Given the description of an element on the screen output the (x, y) to click on. 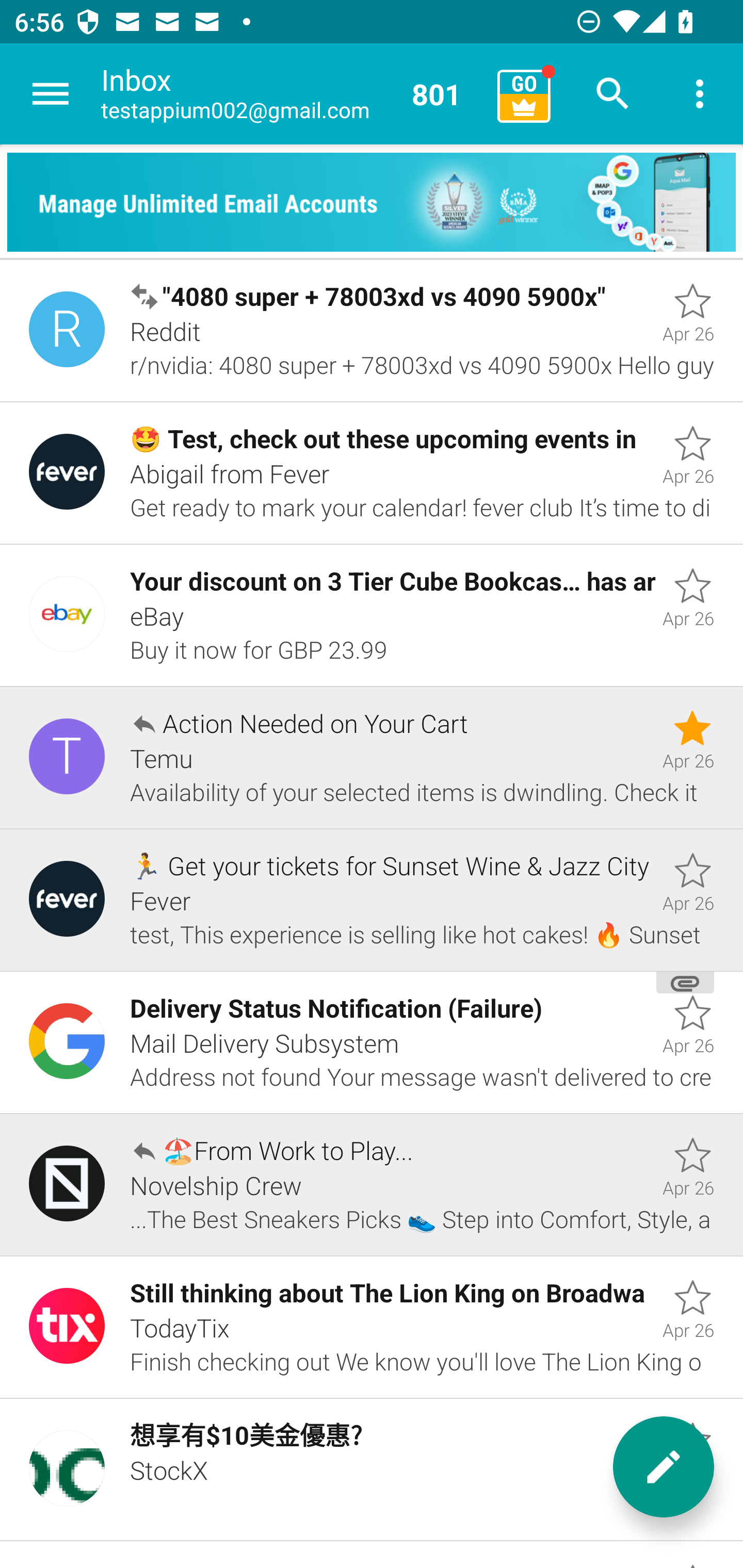
Navigate up (50, 93)
Inbox testappium002@gmail.com 801 (291, 93)
Search (612, 93)
More options (699, 93)
Unread, 想享有$10美金優惠?, StockX, Apr 26 (371, 1469)
New message (663, 1466)
